Given the description of an element on the screen output the (x, y) to click on. 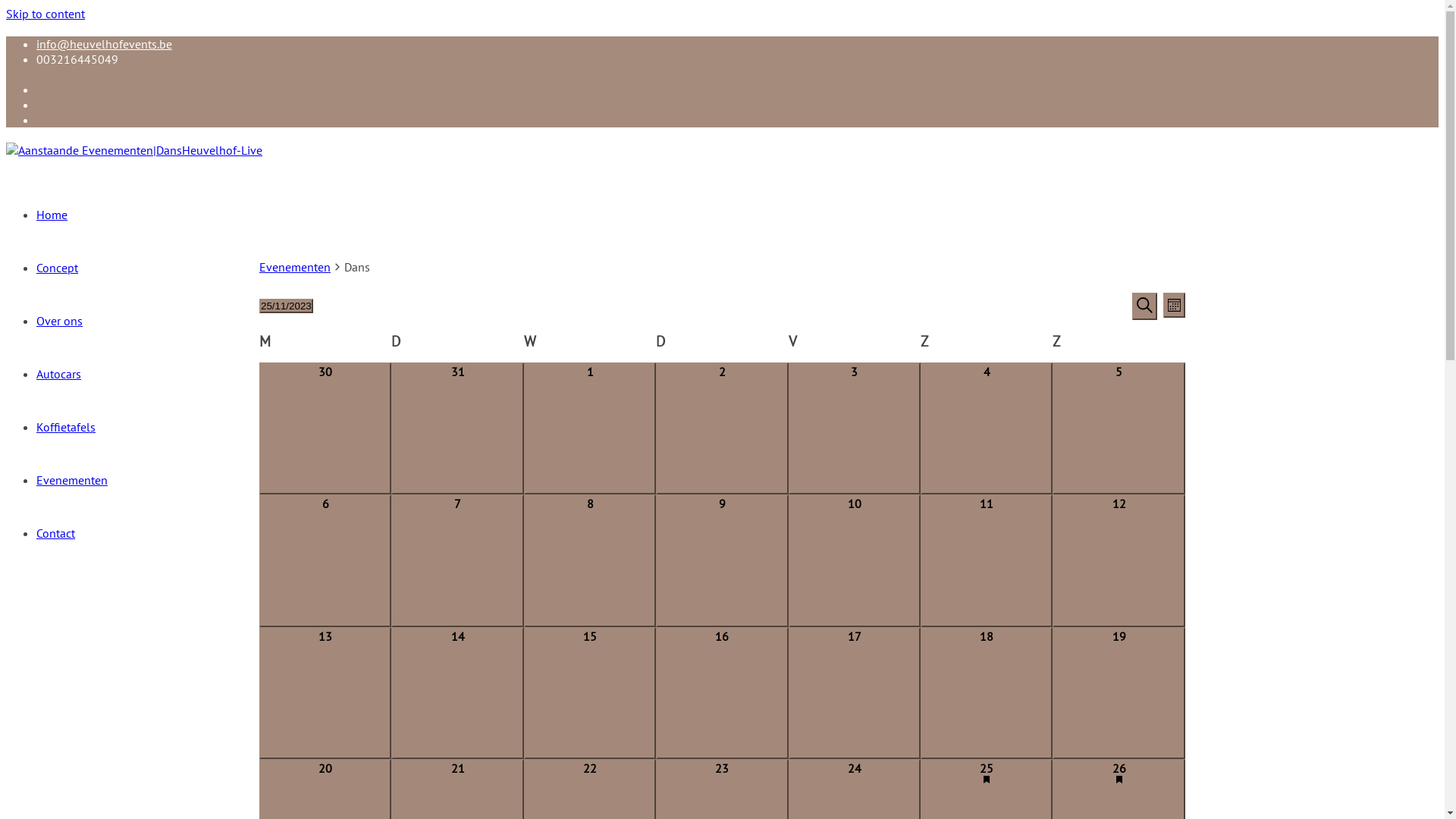
Koffietafels Element type: text (65, 426)
0 evenementen,
30 Element type: text (325, 428)
Evenementen Element type: text (294, 266)
0 evenementen,
18 Element type: text (986, 693)
Evenementen Element type: text (71, 479)
0 evenementen,
13 Element type: text (325, 693)
0 evenementen,
17 Element type: text (854, 693)
0 evenementen,
15 Element type: text (589, 693)
Skip to content Element type: text (45, 13)
0 evenementen,
16 Element type: text (721, 693)
0 evenementen,
31 Element type: text (457, 428)
Concept Element type: text (57, 267)
Over ons Element type: text (59, 320)
Maand Element type: text (1174, 304)
Heeft uitgelichte evenementen Element type: hover (986, 779)
0 evenementen,
12 Element type: text (1118, 560)
0 evenementen,
4 Element type: text (986, 428)
0 evenementen,
11 Element type: text (986, 560)
Heeft uitgelichte evenementen Element type: hover (1119, 779)
0 evenementen,
19 Element type: text (1118, 693)
0 evenementen,
10 Element type: text (854, 560)
25/11/2023 Element type: text (286, 305)
0 evenementen,
6 Element type: text (325, 560)
0 evenementen,
7 Element type: text (457, 560)
0 evenementen,
14 Element type: text (457, 693)
Autocars Element type: text (58, 373)
Contact Element type: text (55, 532)
0 evenementen,
5 Element type: text (1118, 428)
0 evenementen,
3 Element type: text (854, 428)
0 evenementen,
1 Element type: text (589, 428)
0 evenementen,
9 Element type: text (721, 560)
0 evenementen,
8 Element type: text (589, 560)
Zoeken Element type: text (1144, 306)
Home Element type: text (51, 214)
0 evenementen,
2 Element type: text (721, 428)
info@heuvelhofevents.be Element type: text (104, 43)
